Given the description of an element on the screen output the (x, y) to click on. 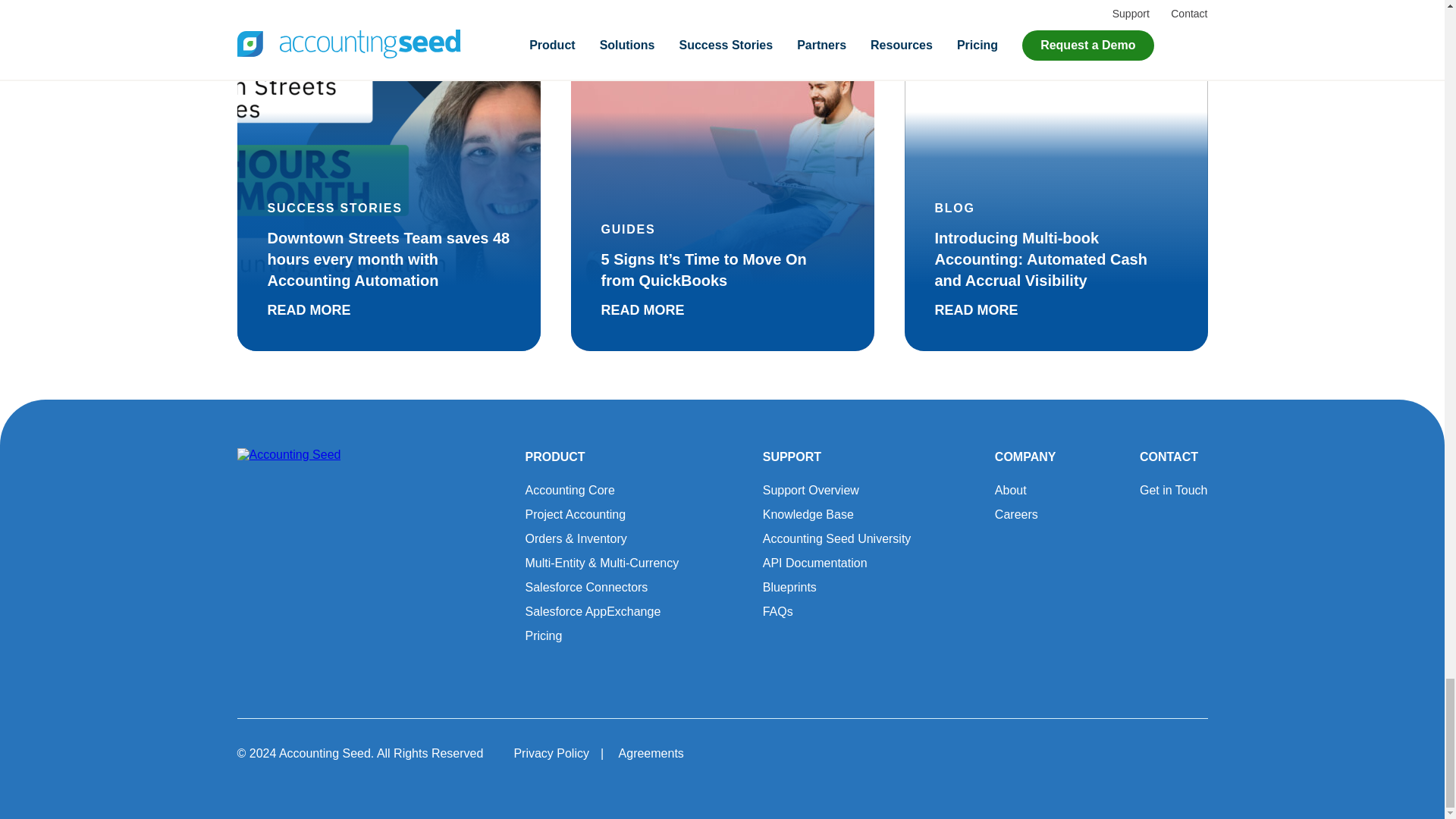
YouTube (1149, 752)
Facebook (1107, 752)
Twitter (1063, 752)
LinkedIn (1191, 752)
